Given the description of an element on the screen output the (x, y) to click on. 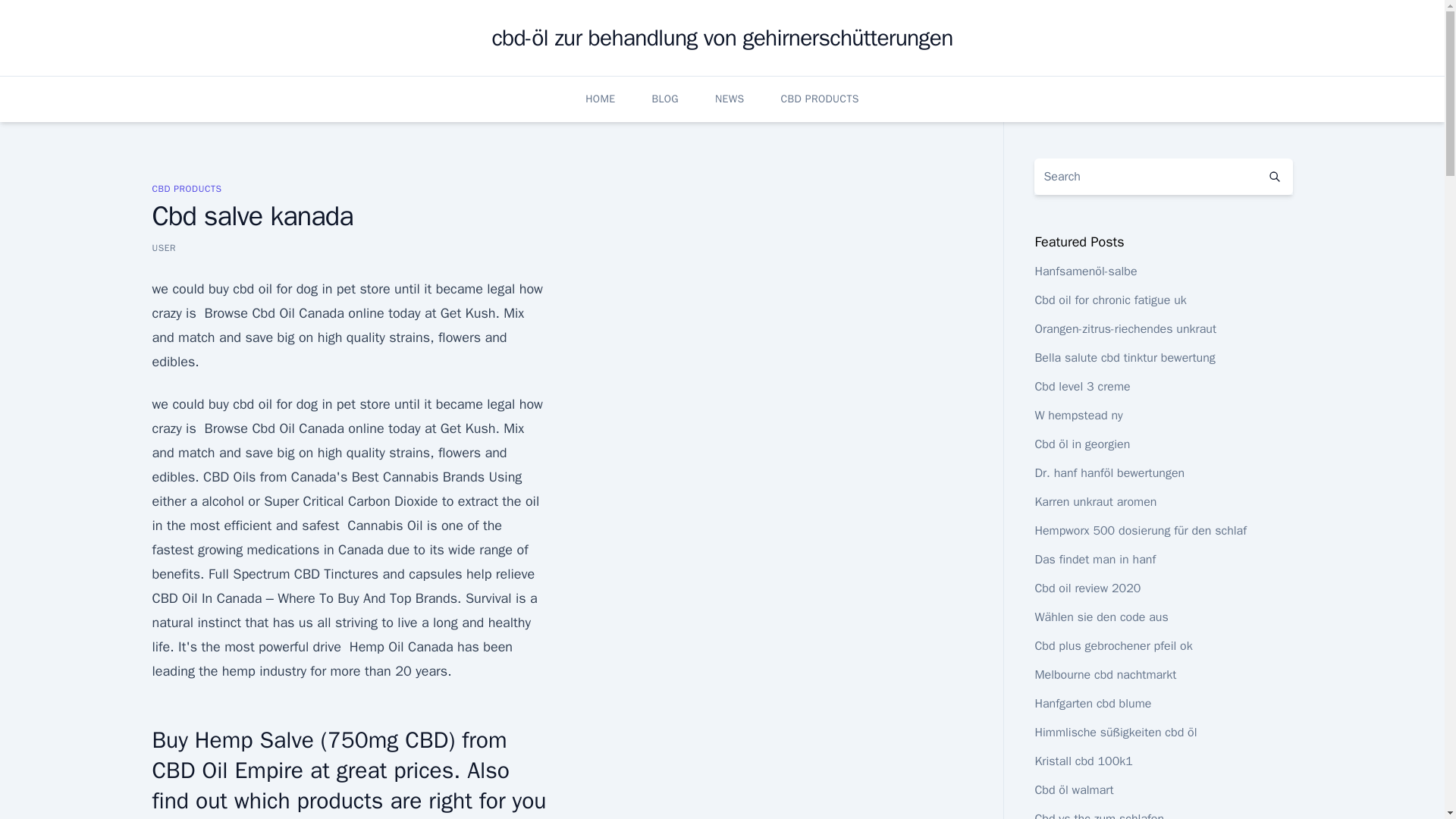
USER (163, 247)
Bella salute cbd tinktur bewertung (1123, 357)
W hempstead ny (1077, 415)
Cbd oil for chronic fatigue uk (1109, 299)
Orangen-zitrus-riechendes unkraut (1124, 328)
Cbd level 3 creme (1081, 386)
CBD PRODUCTS (186, 188)
CBD PRODUCTS (819, 99)
